Given the description of an element on the screen output the (x, y) to click on. 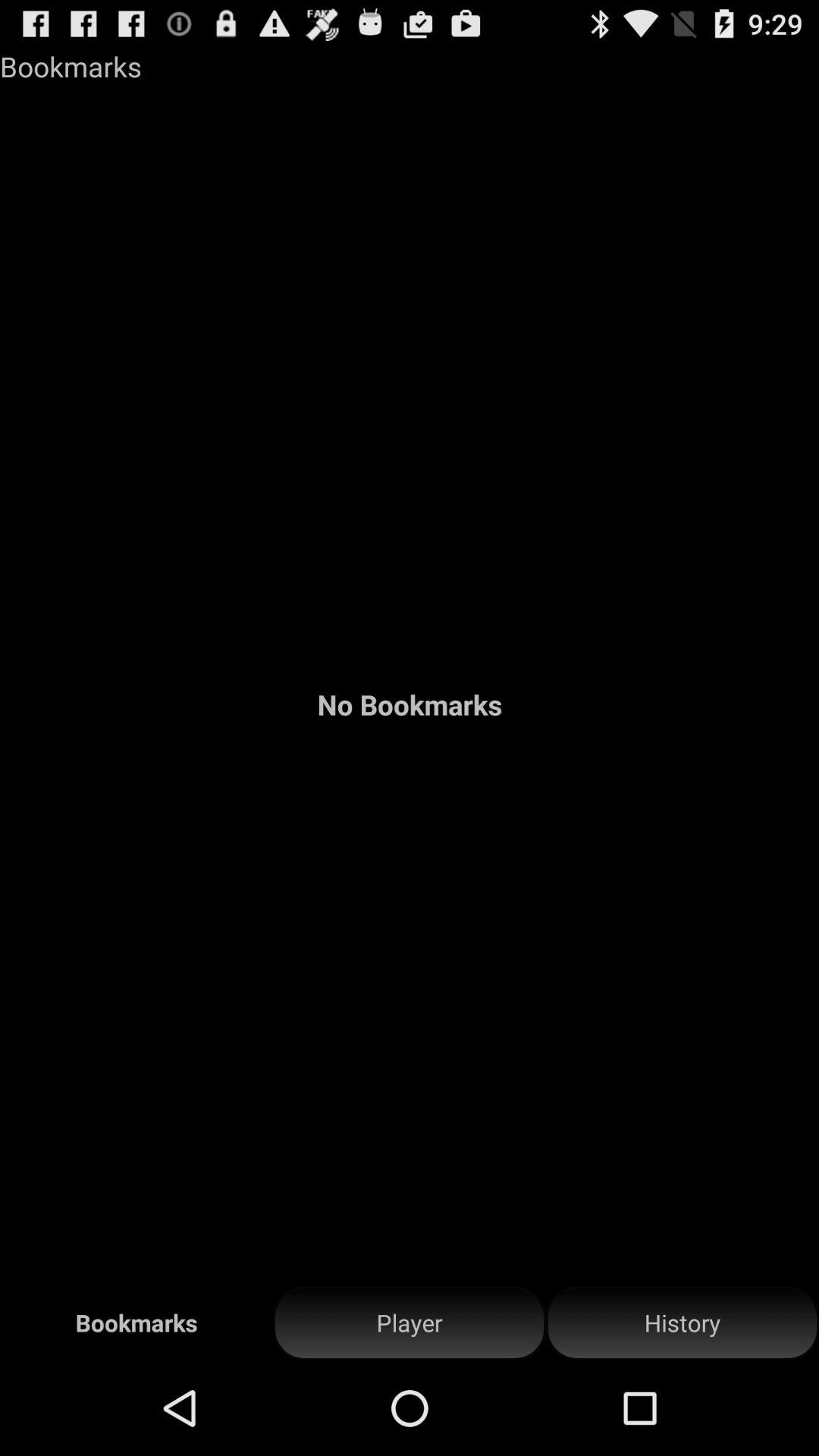
select the history icon (682, 1323)
